Given the description of an element on the screen output the (x, y) to click on. 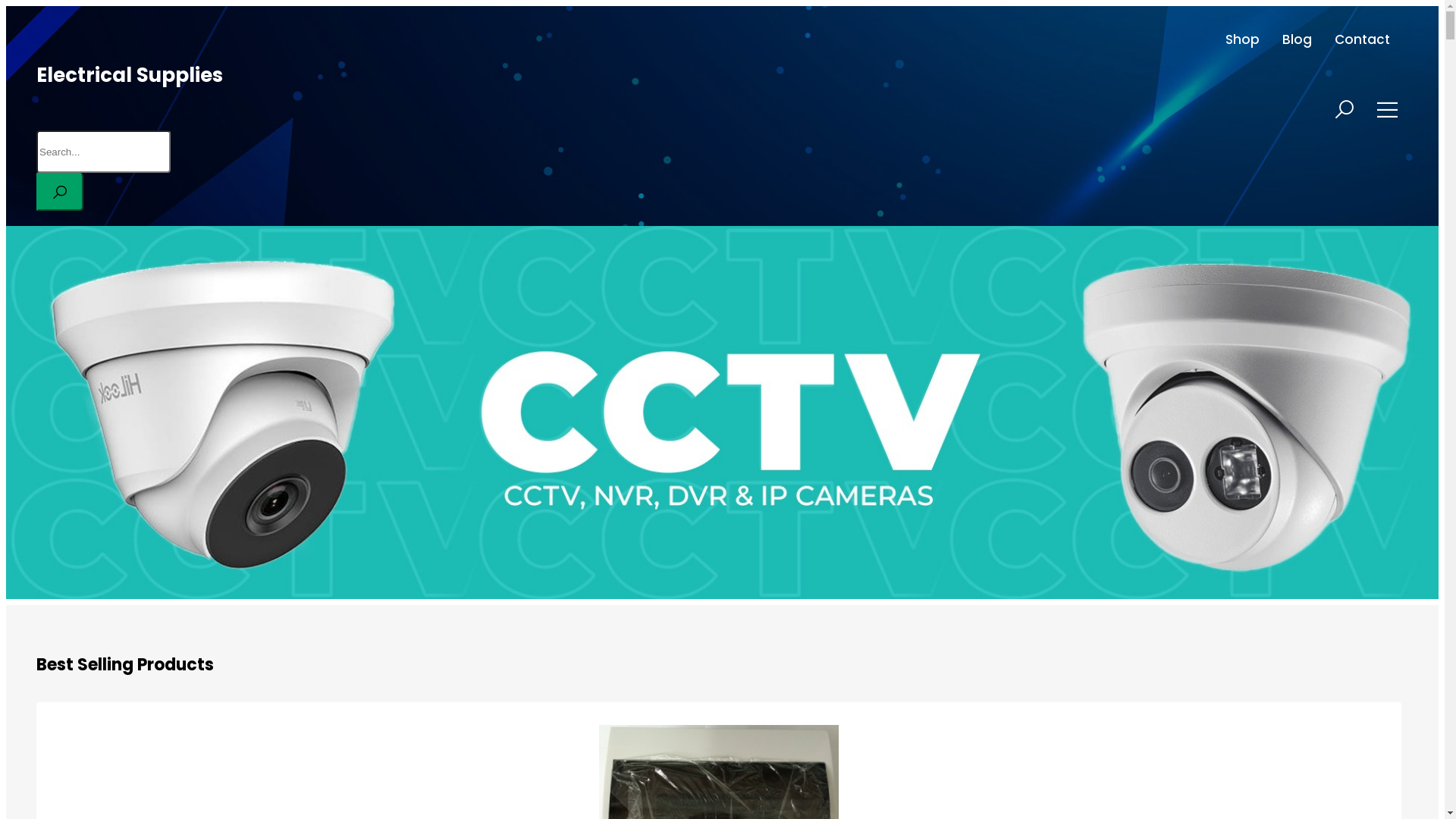
Electrical Supplies Element type: text (129, 74)
Blog Element type: text (1296, 39)
Contact Element type: text (1362, 39)
Shop Element type: text (1242, 39)
